Given the description of an element on the screen output the (x, y) to click on. 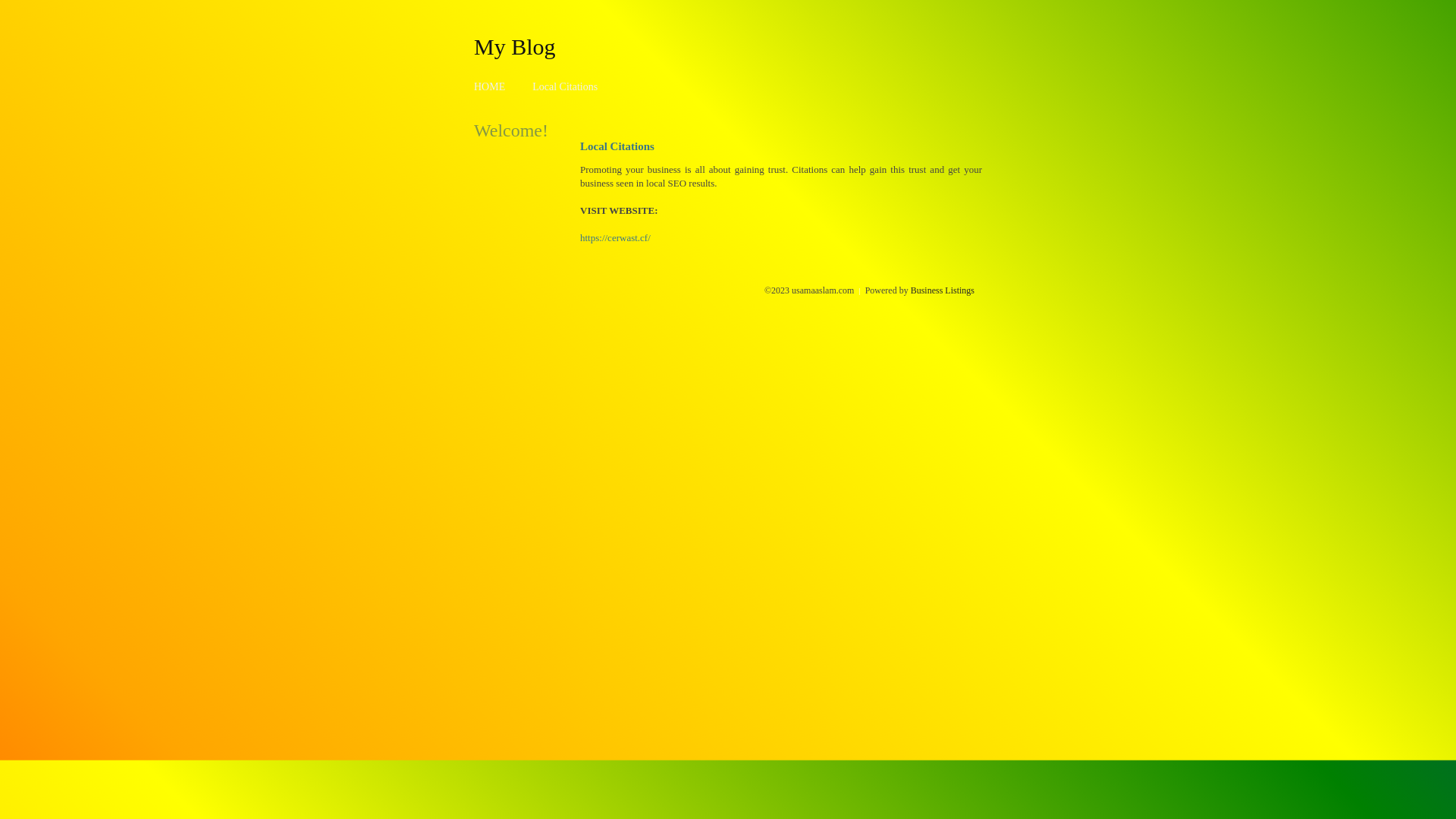
Business Listings Element type: text (942, 290)
HOME Element type: text (489, 86)
https://cerwast.cf/ Element type: text (615, 237)
My Blog Element type: text (514, 46)
Local Citations Element type: text (564, 86)
